Given the description of an element on the screen output the (x, y) to click on. 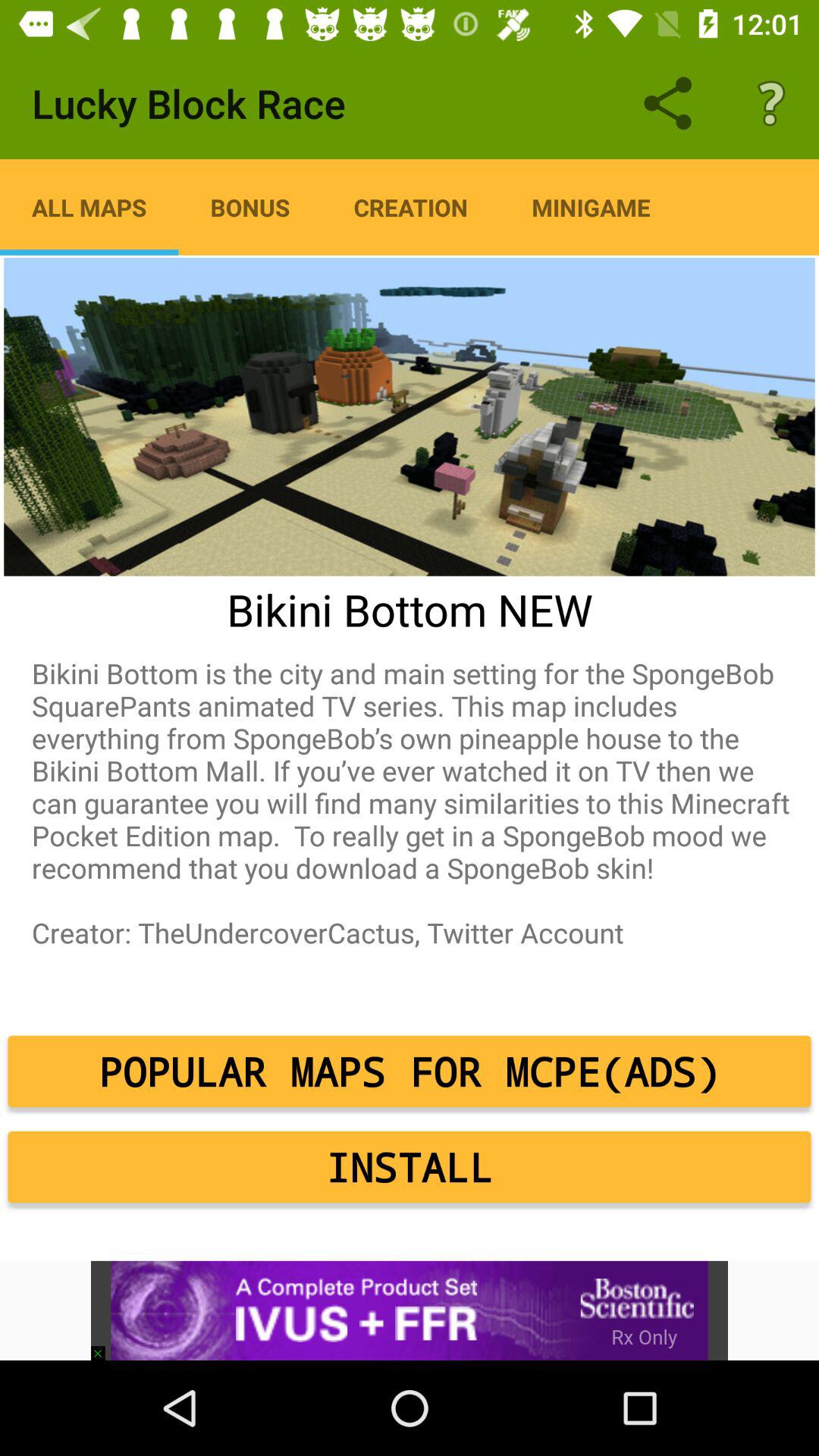
tap the creation (410, 207)
